Given the description of an element on the screen output the (x, y) to click on. 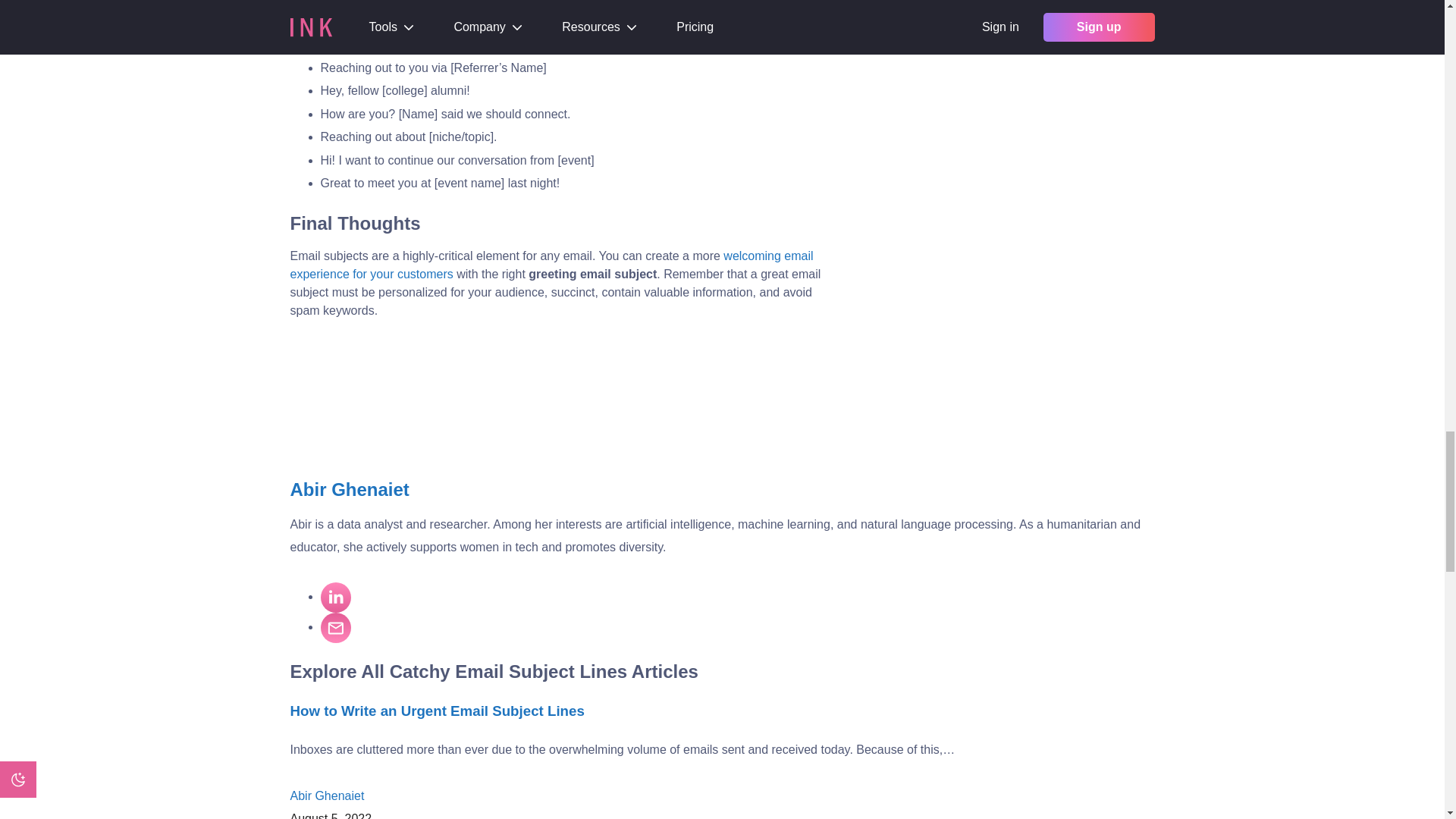
Email Abir Ghenaiet (335, 627)
Abir Ghenaiet LinkedIn (335, 597)
